Given the description of an element on the screen output the (x, y) to click on. 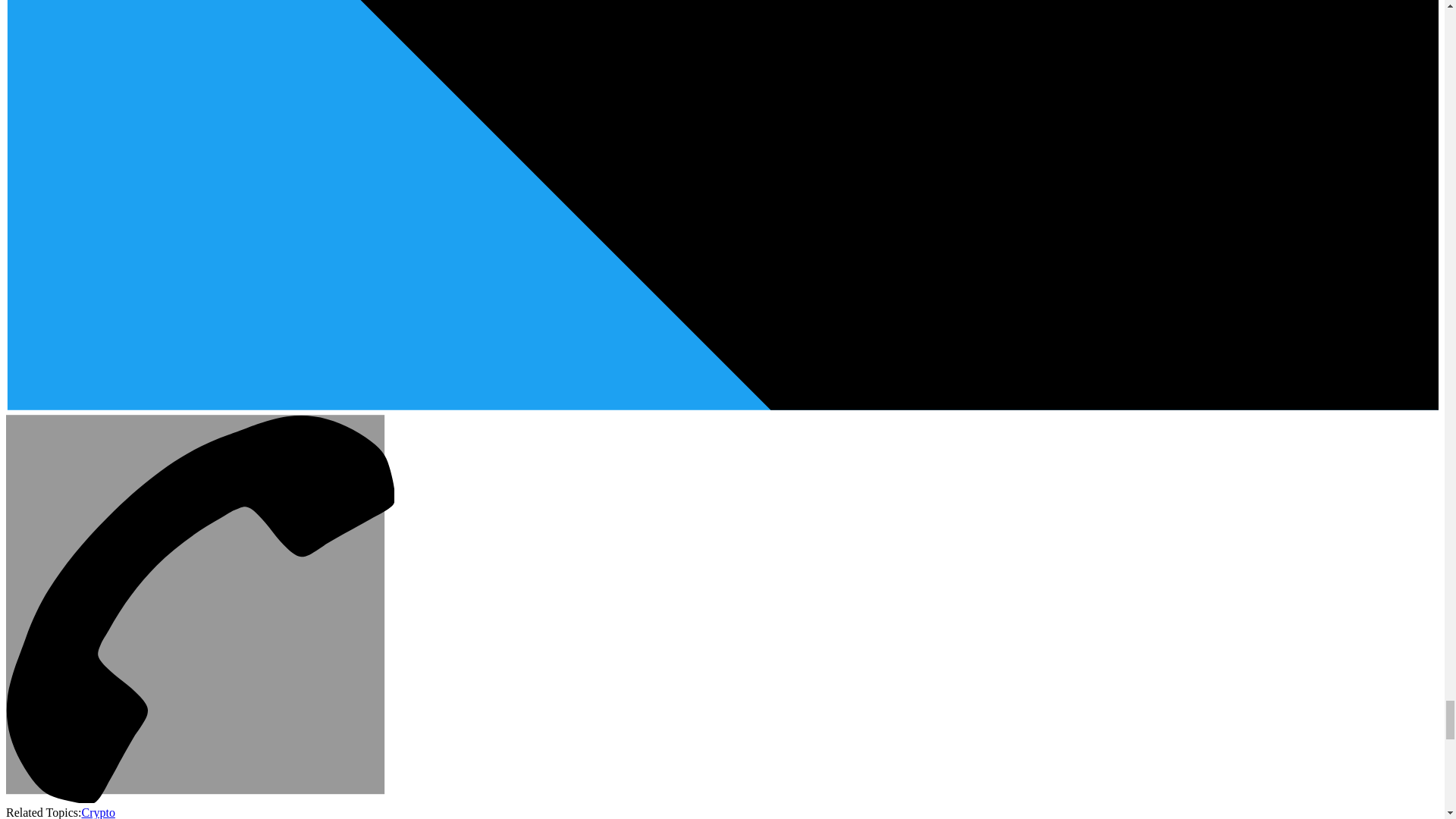
Phone (199, 798)
